Given the description of an element on the screen output the (x, y) to click on. 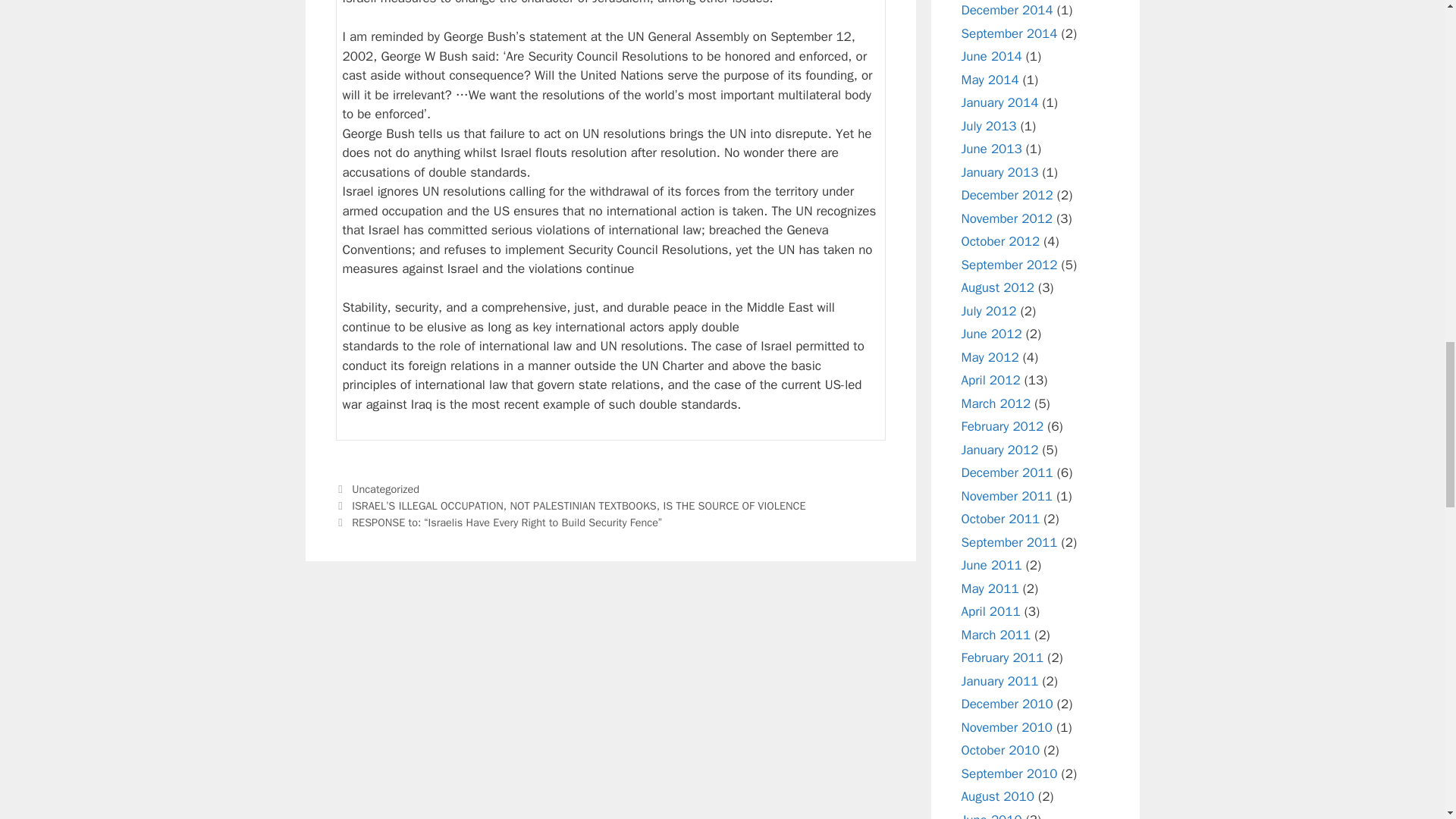
Uncategorized (385, 489)
